Given the description of an element on the screen output the (x, y) to click on. 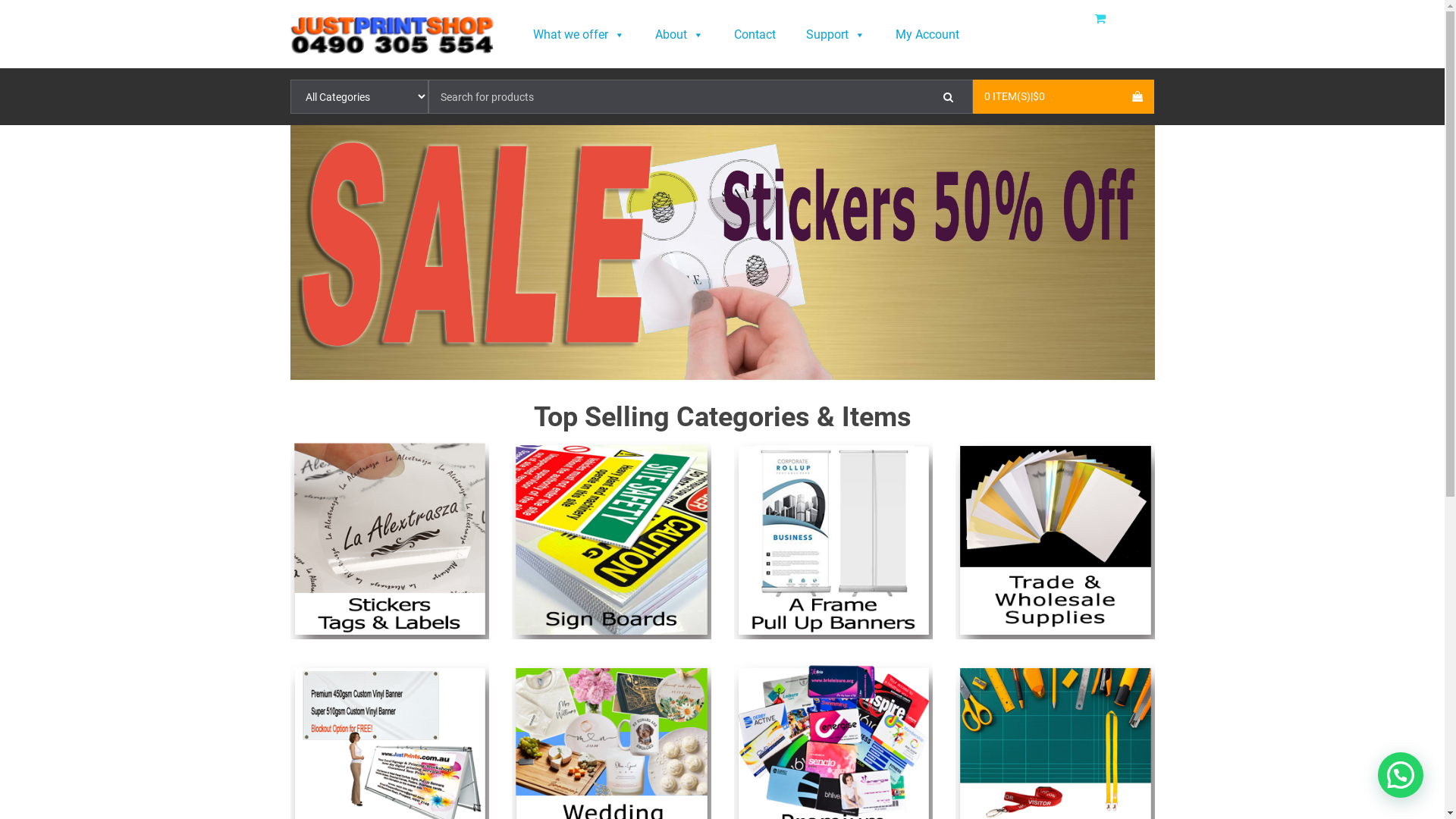
Sign Boards Element type: hover (611, 540)
Support Element type: text (834, 34)
About Element type: text (679, 34)
A Frame & Pull Up Banners Element type: hover (833, 540)
Search Element type: text (948, 96)
What we offer Element type: text (578, 34)
My Account Element type: text (926, 34)
Just Print Shop Element type: hover (391, 34)
View your shopping cart Element type: hover (1104, 18)
Stickers-tags-labels Element type: hover (389, 540)
Search Element type: hover (948, 96)
Contact Element type: text (754, 34)
Flyers-Brochures Element type: hover (1054, 540)
